Given the description of an element on the screen output the (x, y) to click on. 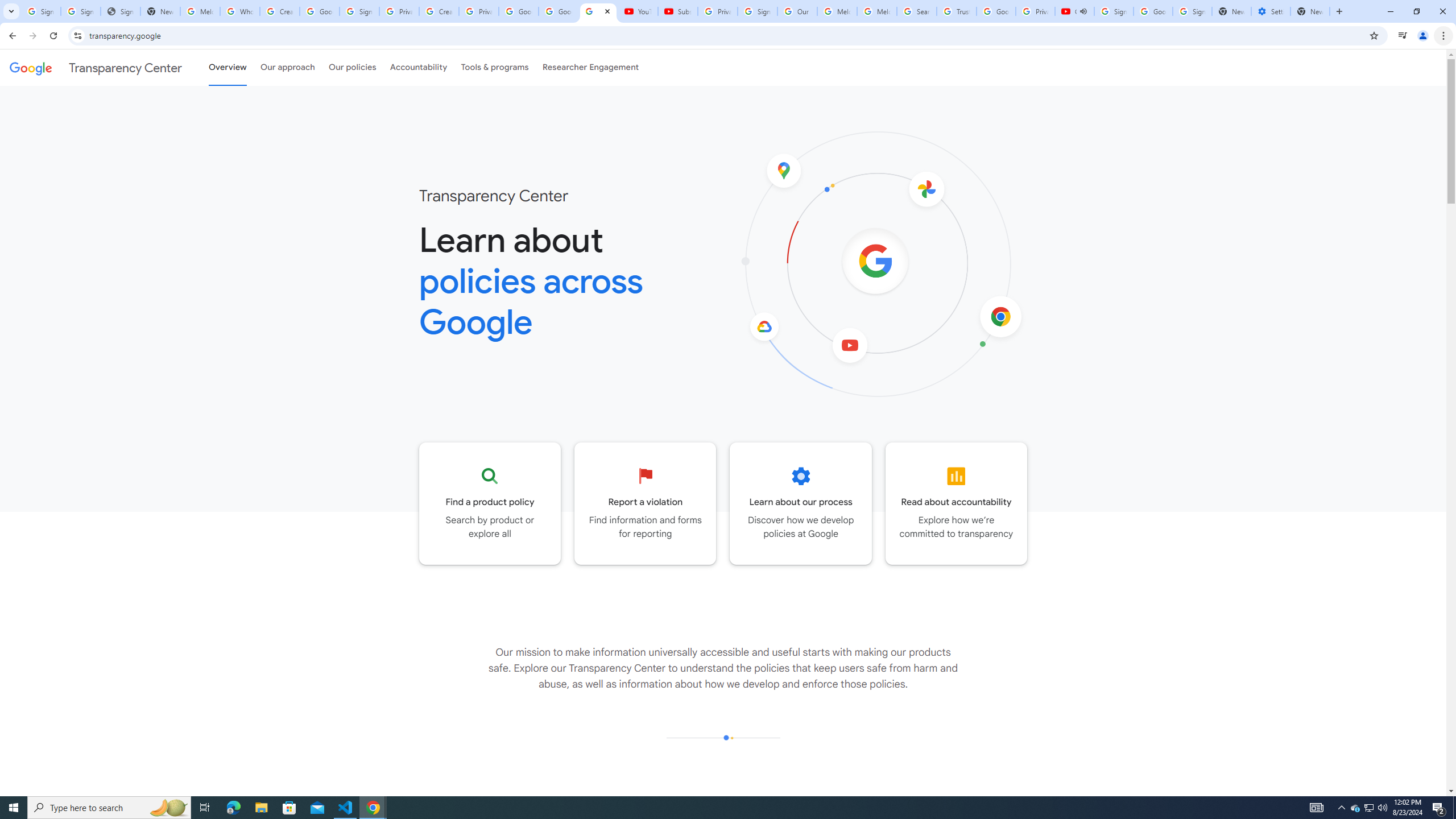
Go to the Our process page (800, 503)
Trusted Information and Content - Google Safety Center (956, 11)
Sign in - Google Accounts (80, 11)
New Tab (1310, 11)
Sign in - Google Accounts (359, 11)
Google Cybersecurity Innovations - Google Safety Center (1152, 11)
